Given the description of an element on the screen output the (x, y) to click on. 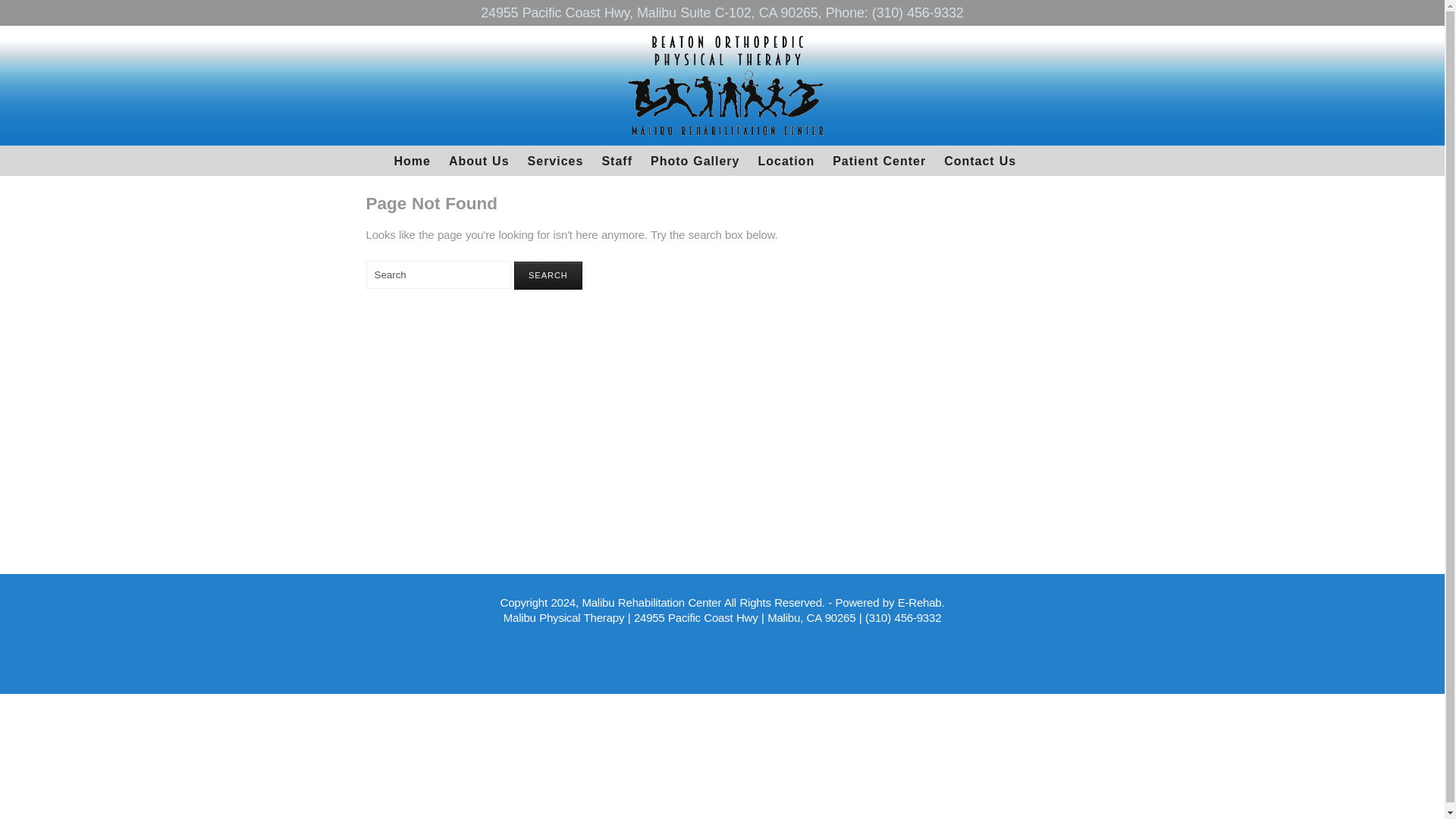
Search (547, 275)
Search (547, 275)
Photo Gallery (695, 161)
Contact Us (979, 161)
Services (555, 161)
Patient Center (879, 161)
Search (438, 275)
Location (786, 161)
Home (412, 161)
Staff (617, 161)
